Given the description of an element on the screen output the (x, y) to click on. 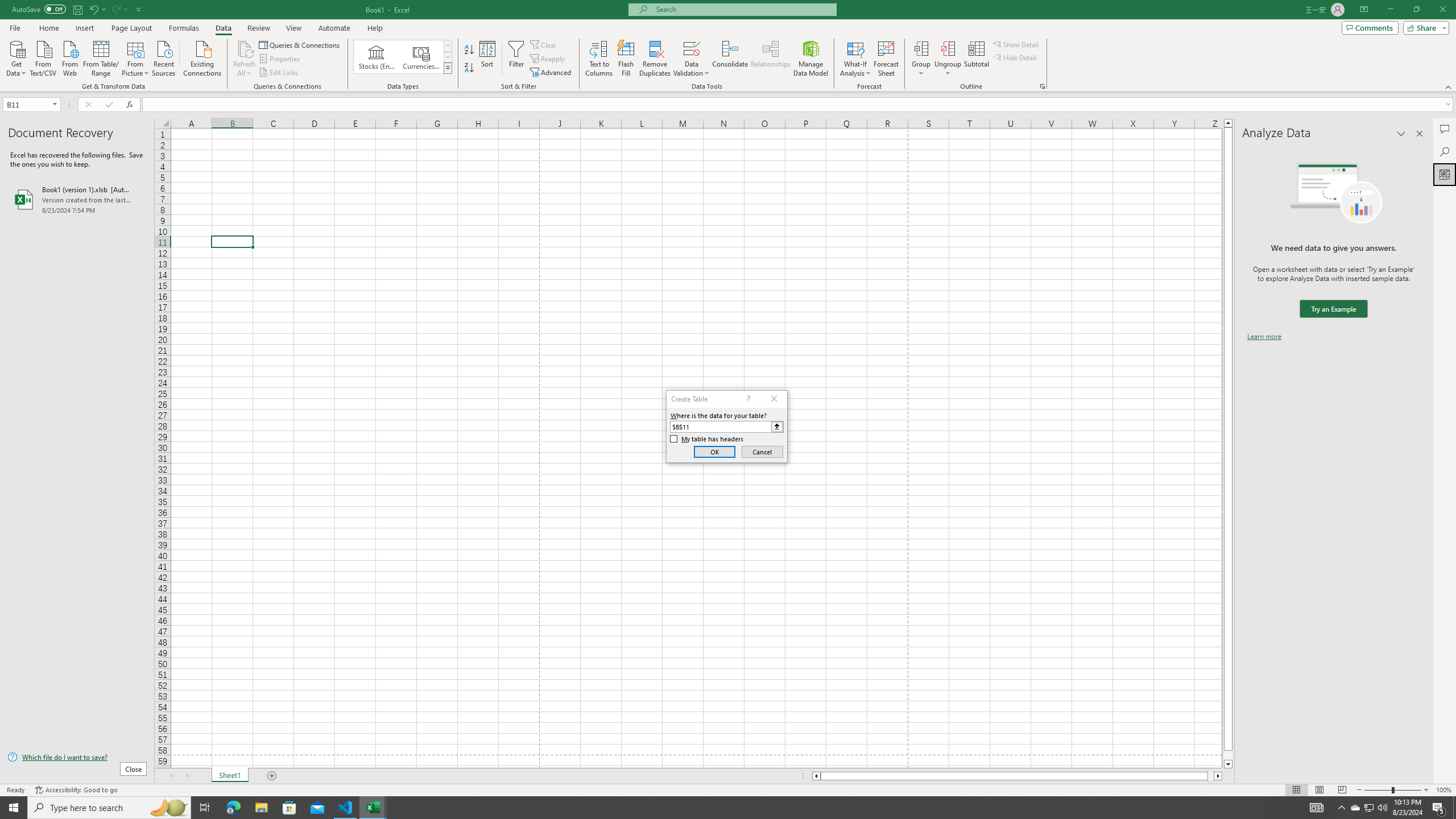
More Options (947, 68)
Minimize (1390, 9)
Search (1444, 151)
Clear (544, 44)
Normal (1296, 790)
Text to Columns... (598, 58)
Add Sheet (272, 775)
Sort A to Z (469, 49)
Sort... (487, 58)
Edit Links (279, 72)
Book1 (version 1).xlsb  [AutoRecovered] (77, 199)
Consolidate... (729, 58)
View (293, 28)
Class: NetUIImage (447, 68)
Column left (815, 775)
